Given the description of an element on the screen output the (x, y) to click on. 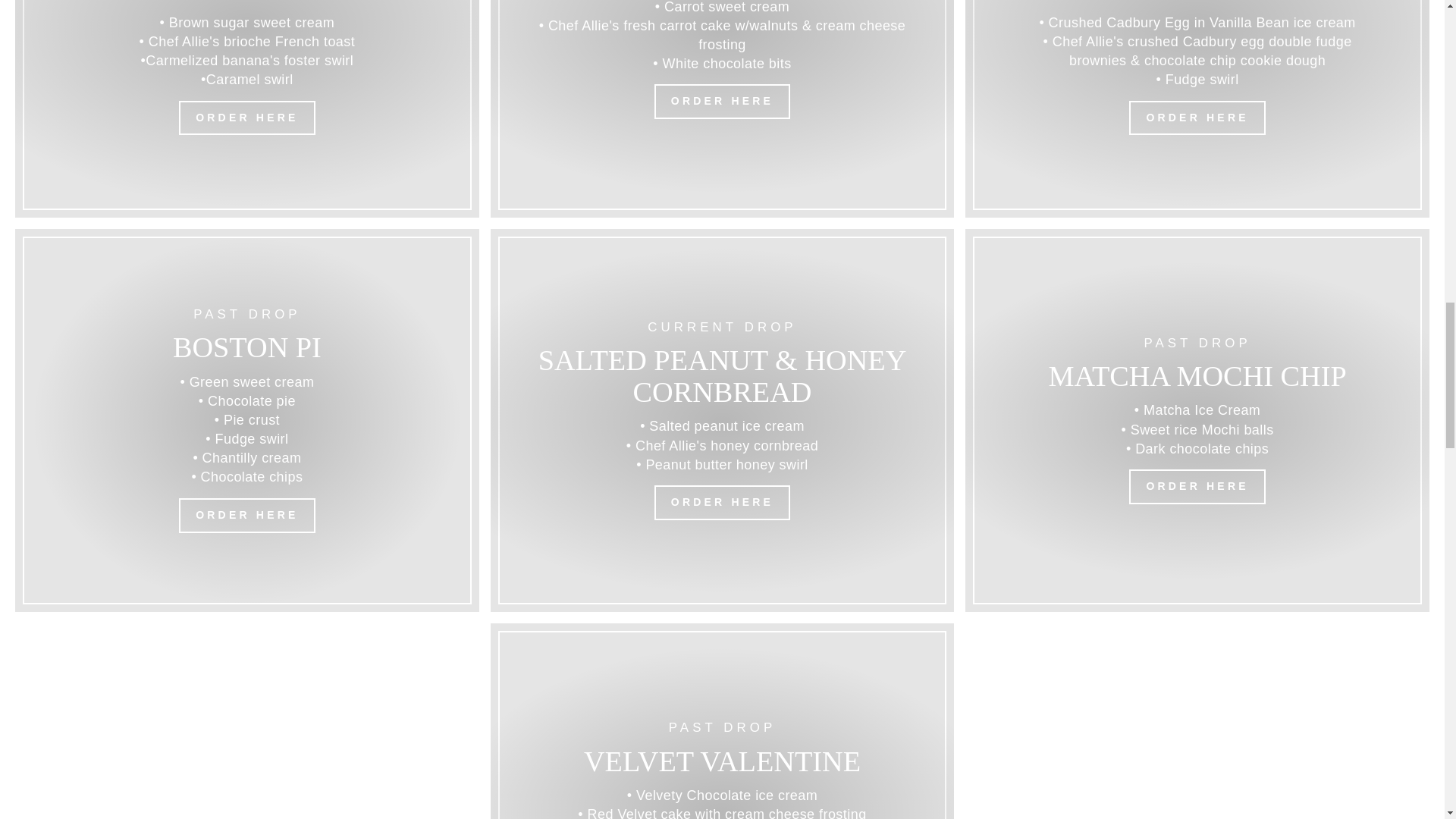
ORDER HERE (246, 117)
ORDER HERE (721, 101)
